Given the description of an element on the screen output the (x, y) to click on. 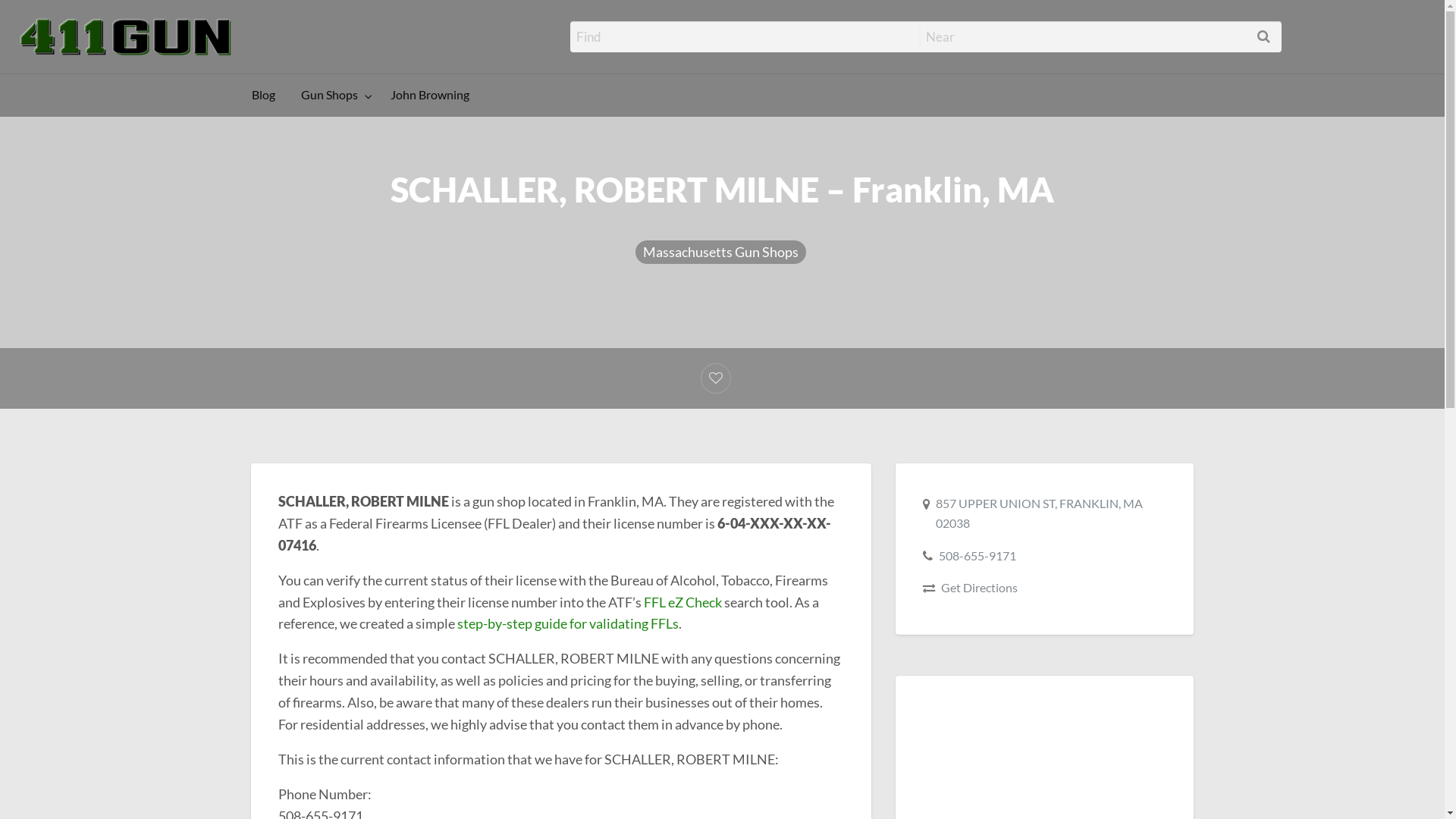
508-655-9171 Element type: text (977, 555)
step-by-step guide for validating FFLs Element type: text (567, 623)
Get Directions Element type: text (979, 587)
Gun Shops Element type: text (332, 94)
411 GUN Element type: text (301, 34)
Massachusetts Gun Shops Element type: text (720, 251)
FFL eZ Check Element type: text (682, 601)
Blog Element type: text (263, 94)
John Browning Element type: text (429, 94)
Search Element type: text (29, 16)
857 UPPER UNION ST, FRANKLIN, MA 02038 Element type: text (1038, 512)
